Given the description of an element on the screen output the (x, y) to click on. 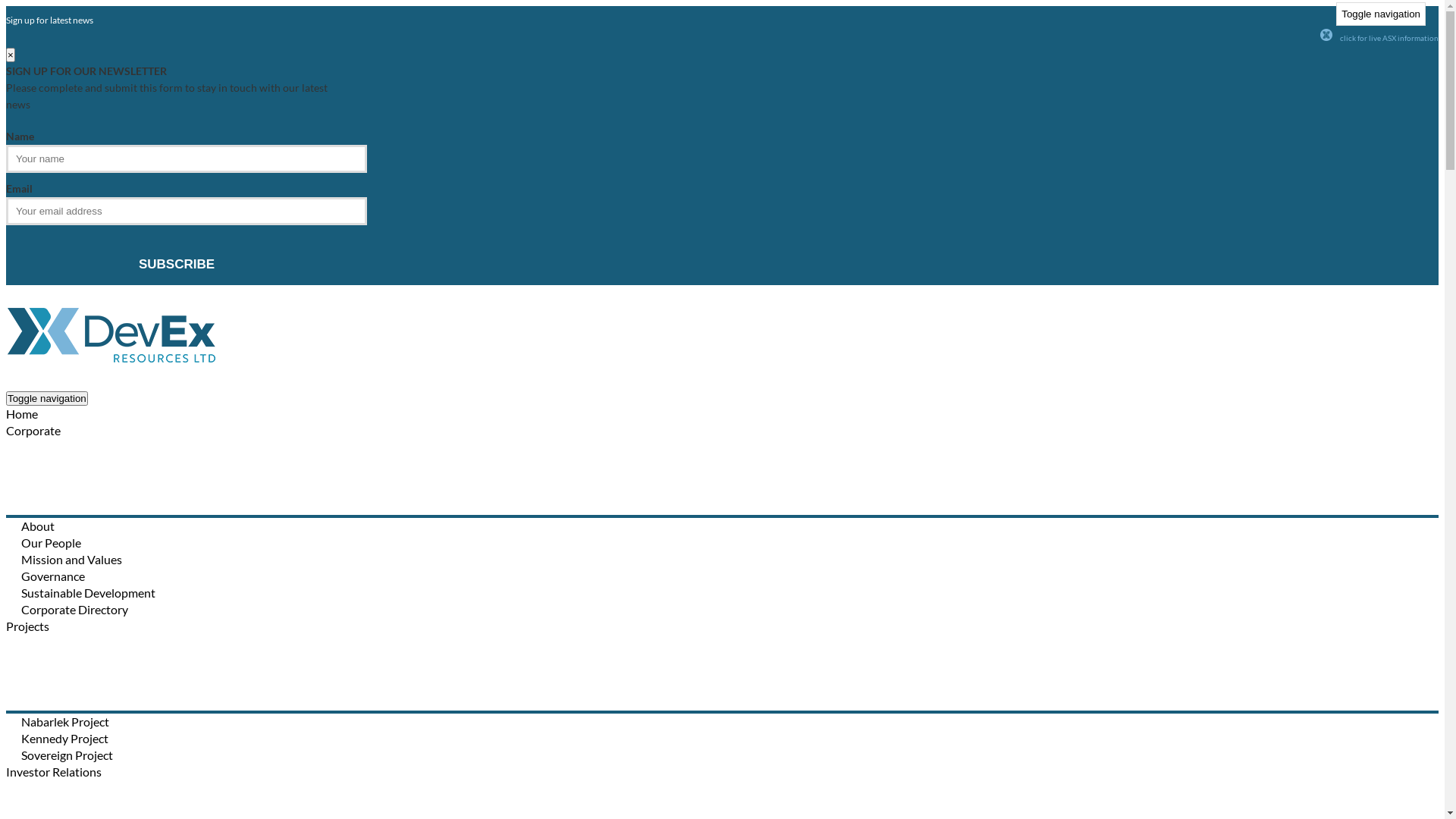
Nabarlek Project Element type: text (65, 721)
Our People Element type: text (51, 542)
About Element type: text (37, 525)
Toggle navigation Element type: text (46, 398)
Projects Element type: text (27, 625)
Toggle navigation Element type: text (1380, 13)
Governance Element type: text (53, 575)
click for live ASX information Element type: text (1388, 37)
Subscribe Element type: text (176, 264)
Sustainable Development Element type: text (88, 592)
Mission and Values Element type: text (71, 559)
Investor Relations Element type: text (53, 771)
Sign up for latest news Element type: text (49, 19)
Sovereign Project Element type: text (67, 754)
Home Element type: text (21, 413)
Kennedy Project Element type: text (64, 737)
Corporate Directory Element type: text (74, 609)
Corporate Element type: text (33, 430)
